Given the description of an element on the screen output the (x, y) to click on. 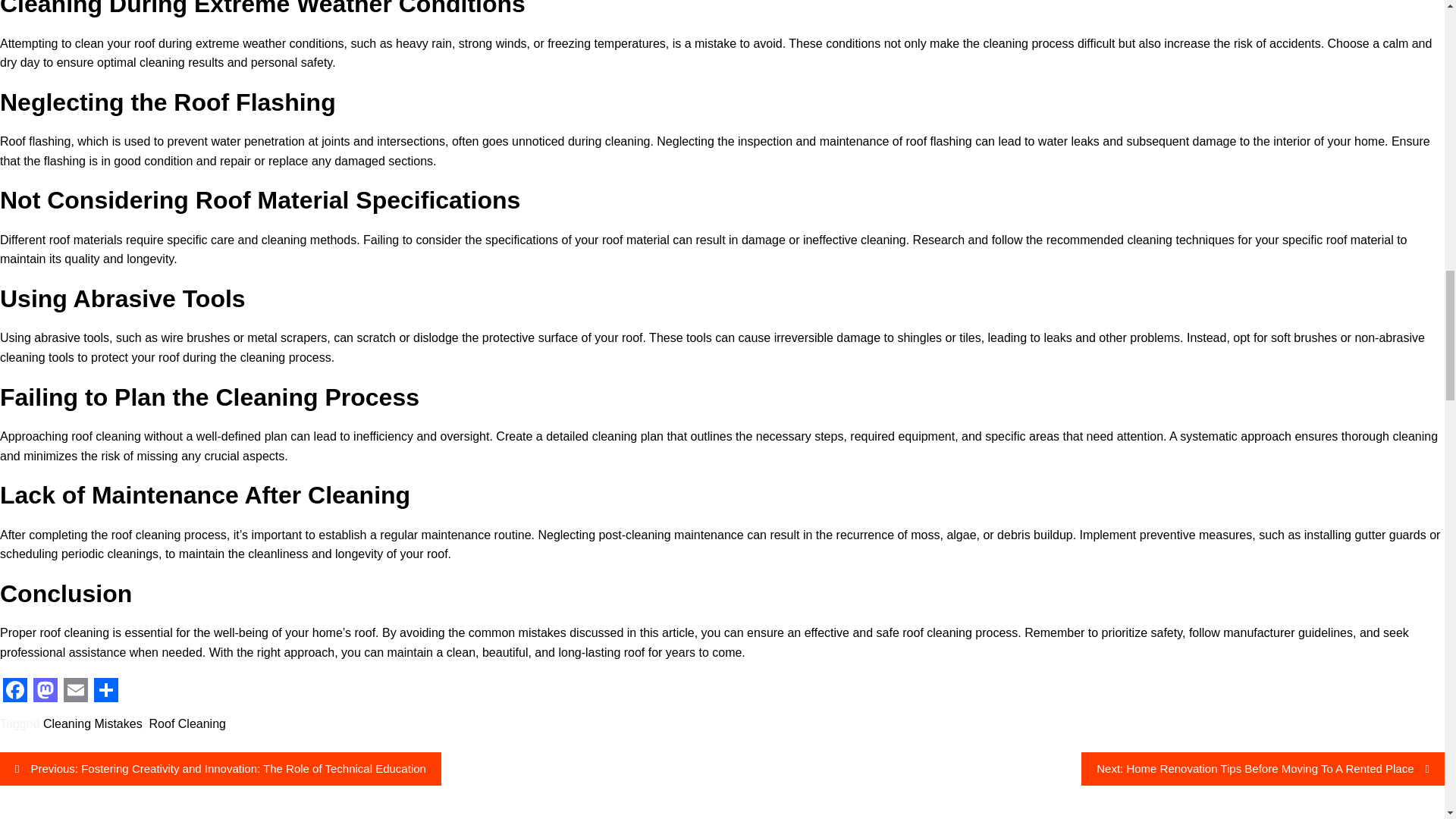
Roof Cleaning (187, 723)
Cleaning Mistakes (92, 723)
Email (75, 689)
Mastodon (45, 689)
Facebook (15, 689)
Facebook (15, 689)
Share (105, 689)
Mastodon (45, 689)
Email (75, 689)
